Given the description of an element on the screen output the (x, y) to click on. 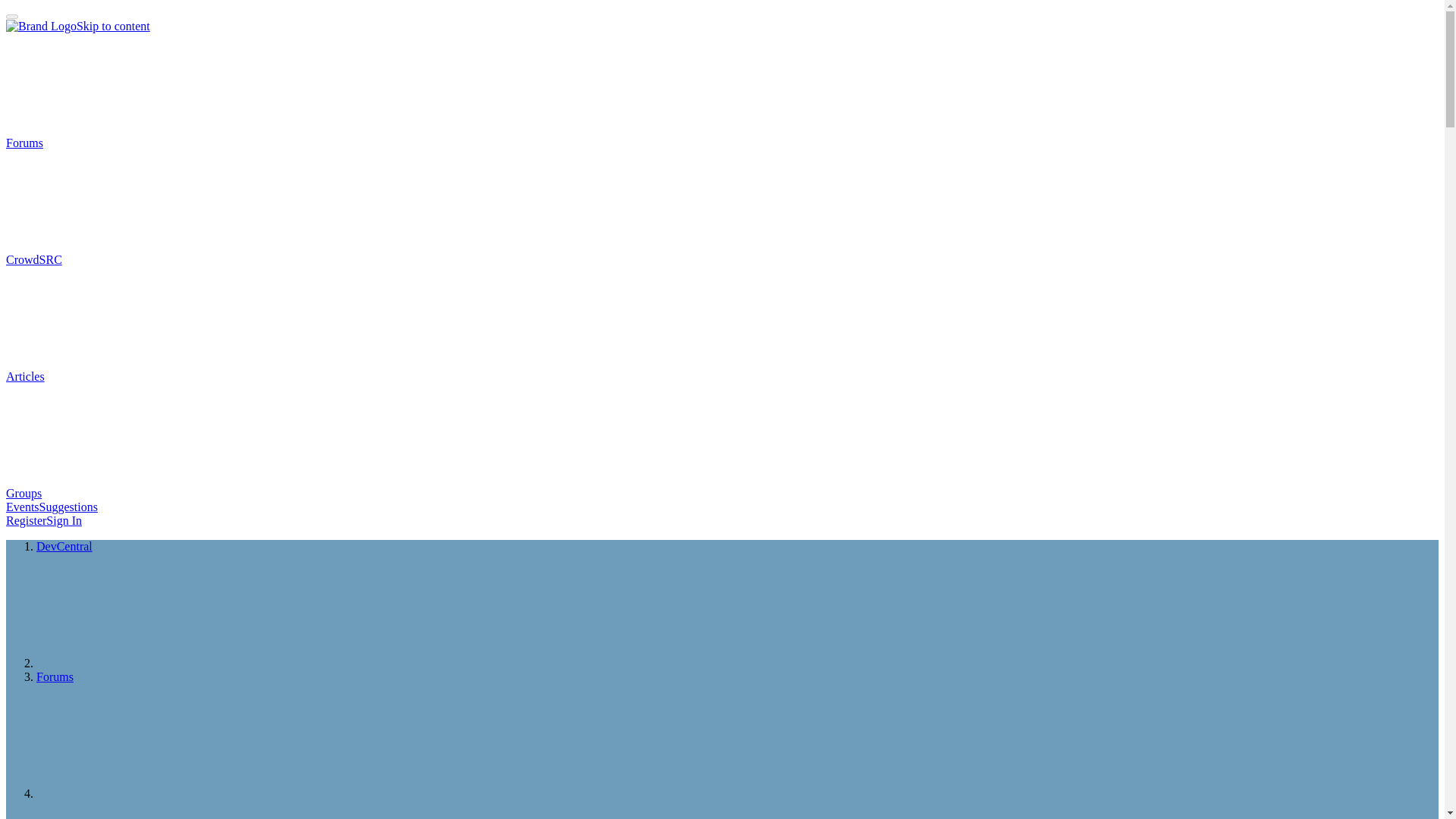
Suggestions (68, 506)
Forums (137, 142)
CrowdSRC (147, 259)
DevCentral (64, 545)
Articles (138, 376)
Events (22, 506)
Register (25, 520)
Forums (55, 676)
Skip to content (113, 25)
Sign In (63, 520)
